Given the description of an element on the screen output the (x, y) to click on. 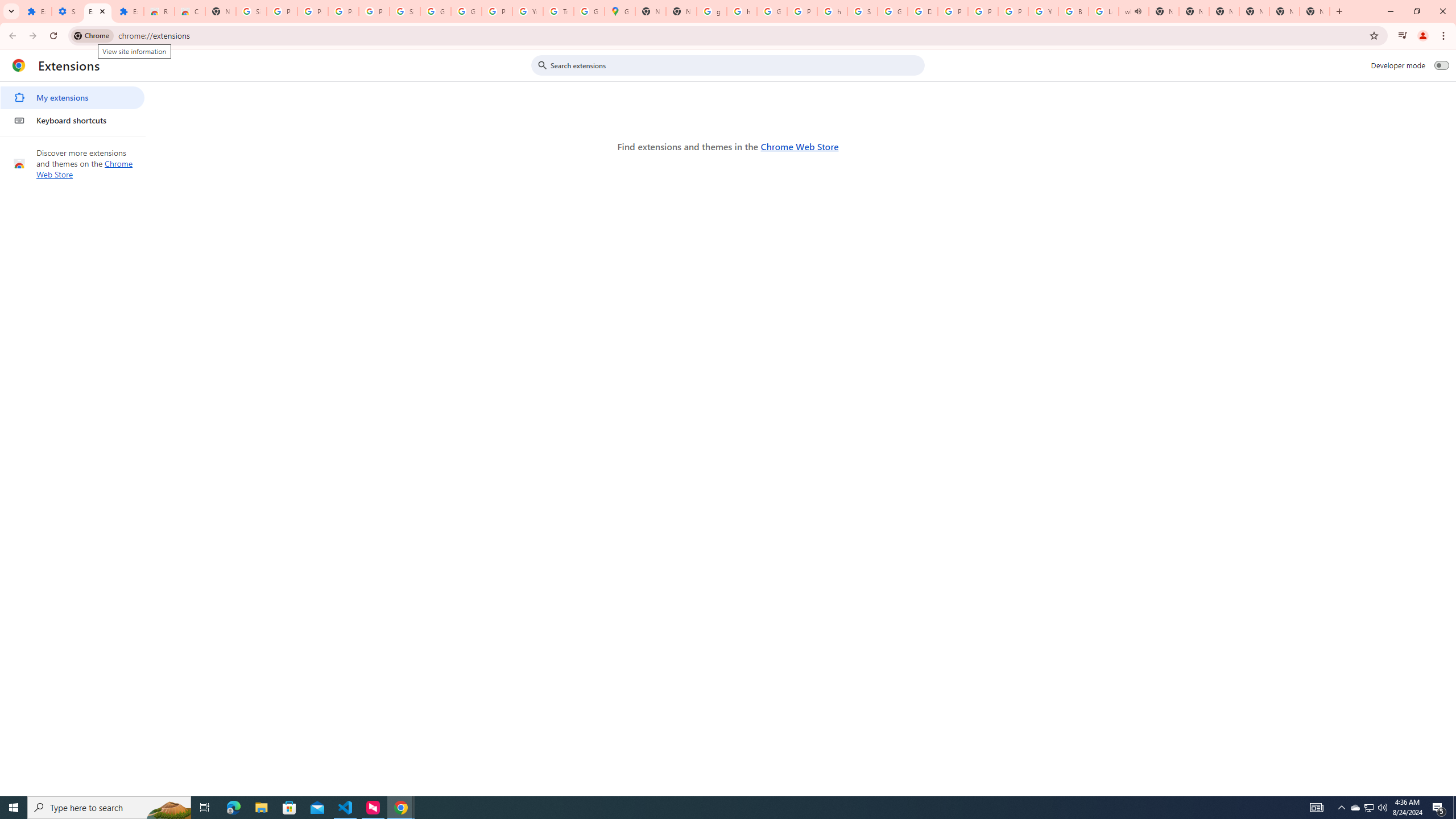
Google Maps (619, 11)
Sign in - Google Accounts (404, 11)
https://scholar.google.com/ (741, 11)
My extensions (72, 97)
New Tab (220, 11)
